Given the description of an element on the screen output the (x, y) to click on. 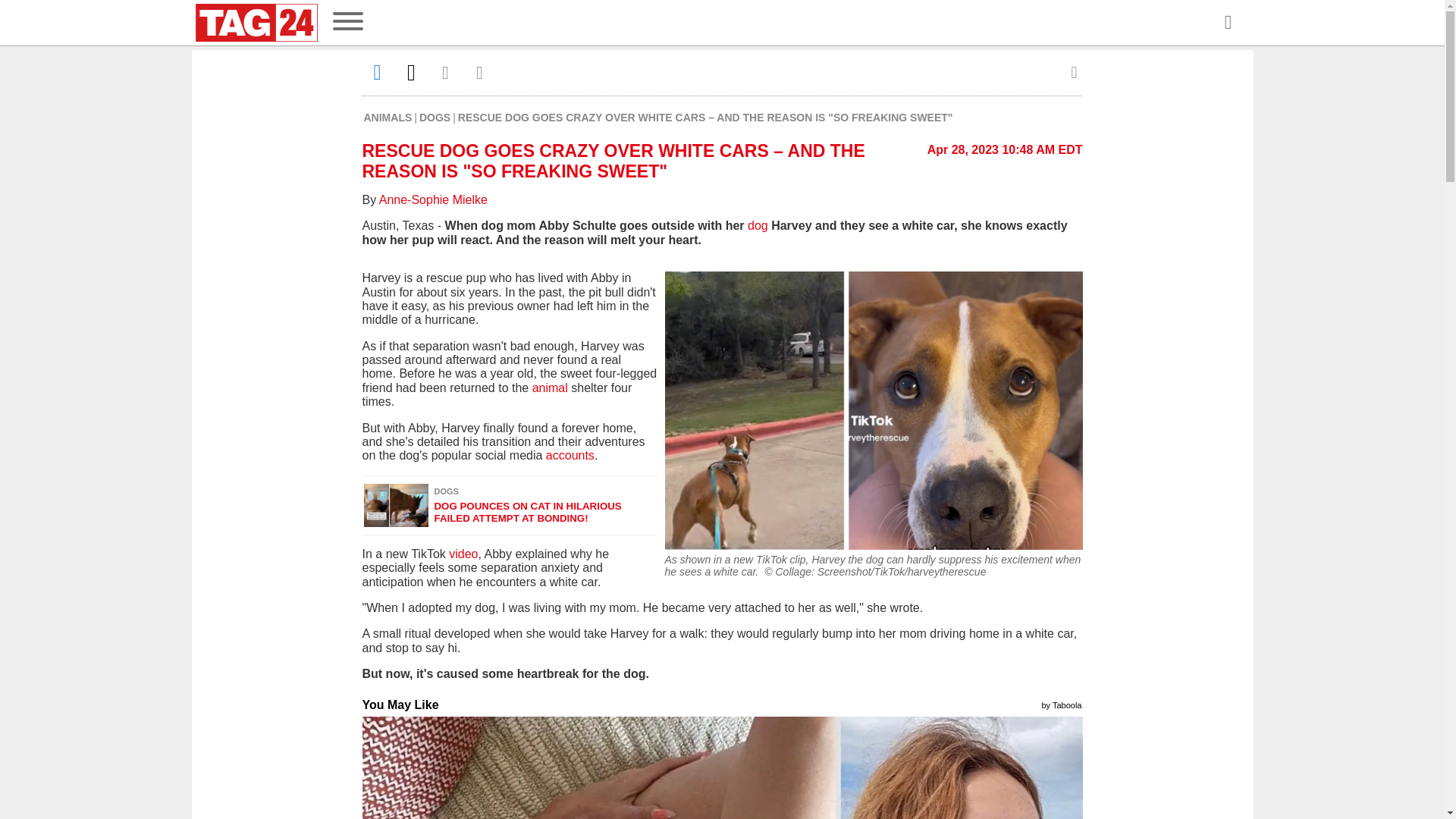
DOG POUNCES ON CAT IN HILARIOUS FAILED ATTEMPT AT BONDING! (544, 512)
ANIMALS (388, 117)
menu (347, 22)
Copy link (479, 72)
accounts (570, 454)
Share on Twitter (411, 72)
Open search (1227, 22)
Share via mail (445, 72)
Share on Facebook (377, 72)
by Taboola (1061, 703)
video (462, 553)
animal (552, 387)
Anne-Sophie Mielke (432, 199)
DOGS (434, 117)
dog (756, 225)
